Given the description of an element on the screen output the (x, y) to click on. 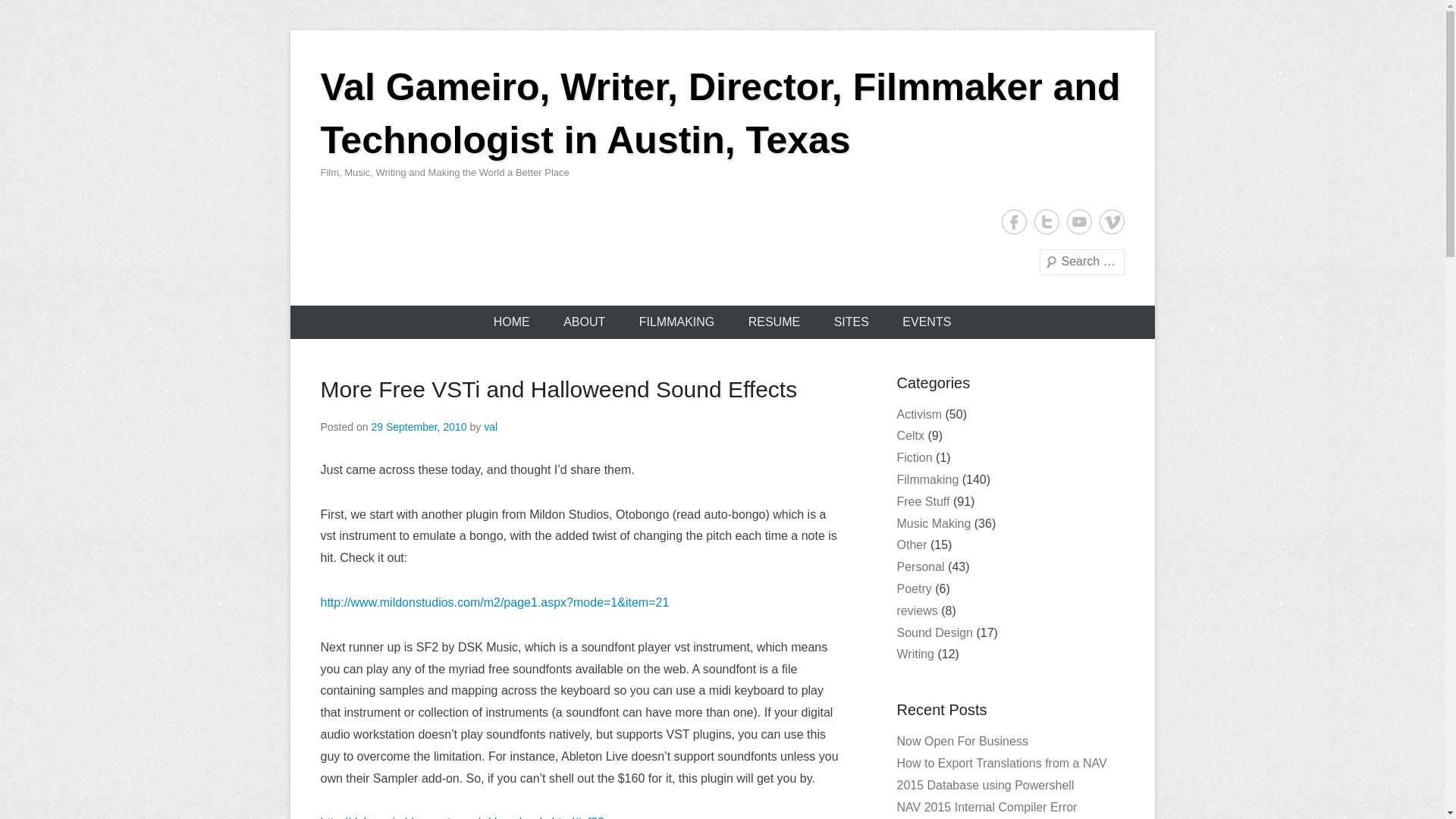
ABOUT (584, 322)
Mildon Studios (494, 602)
7:49 am (418, 426)
DSM Music (462, 817)
Celtx (909, 435)
Vimeo (1111, 221)
Vimeo (1111, 221)
YouTube (1077, 221)
HOME (511, 322)
Activism (919, 413)
YouTube (1077, 221)
29 September, 2010 (418, 426)
Search (32, 15)
View all posts by val (490, 426)
